Given the description of an element on the screen output the (x, y) to click on. 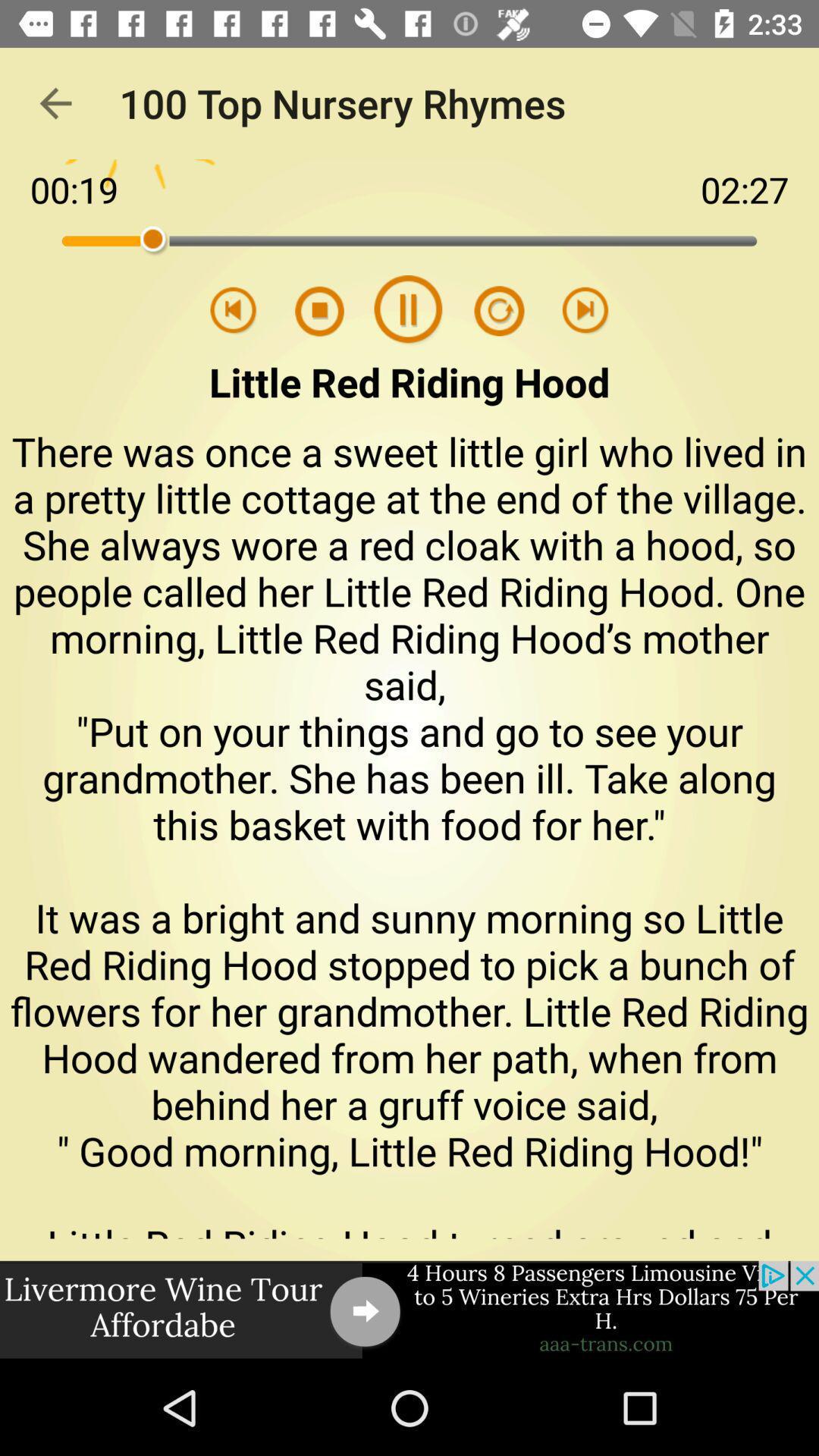
advertising bar (409, 1310)
